Given the description of an element on the screen output the (x, y) to click on. 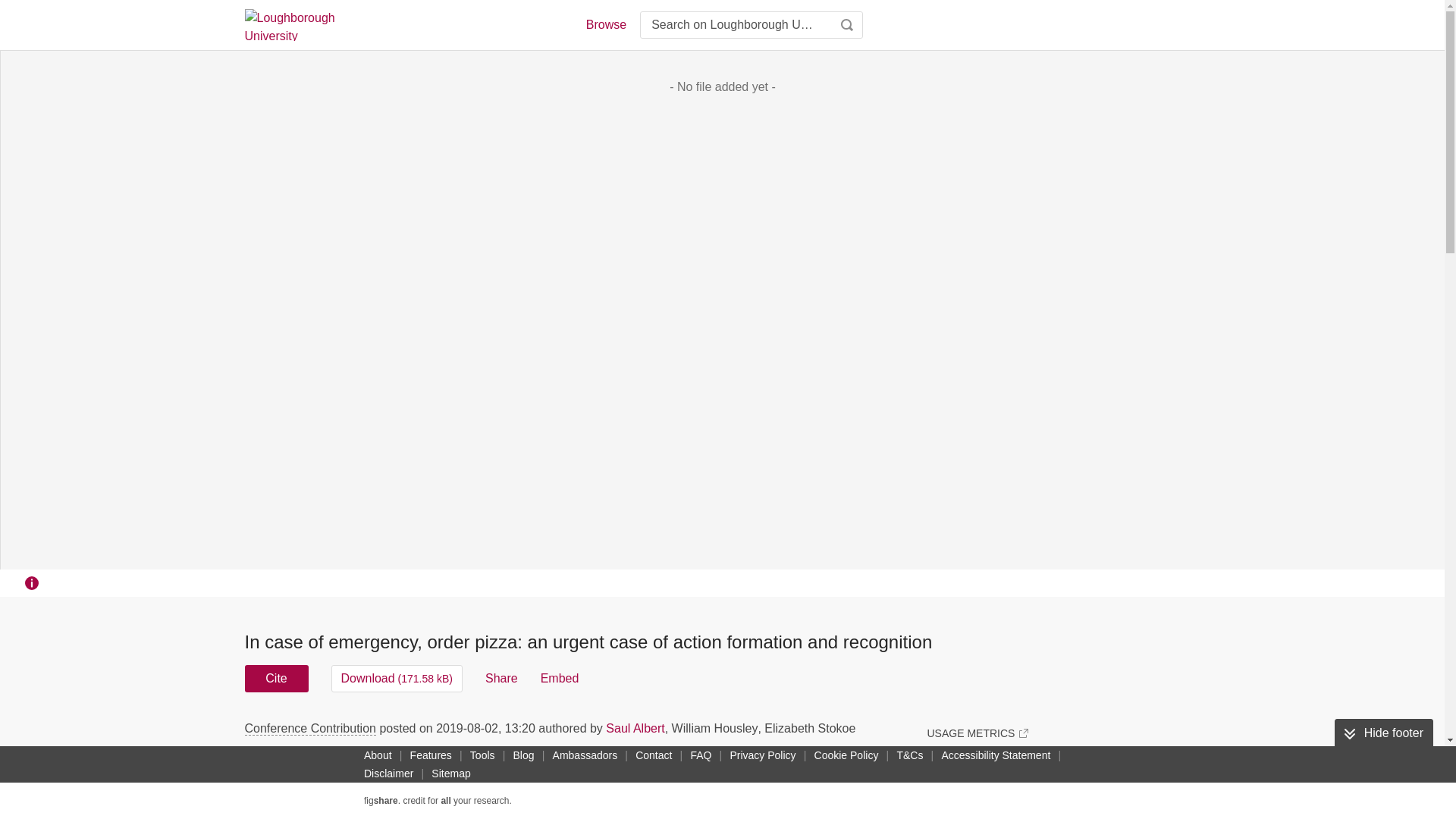
Privacy Policy (762, 755)
Features (431, 755)
Browse (605, 24)
Cookie Policy (846, 755)
Blog (523, 755)
Embed (559, 678)
About (377, 755)
Tools (482, 755)
Ambassadors (585, 755)
Disclaimer (388, 773)
